Given the description of an element on the screen output the (x, y) to click on. 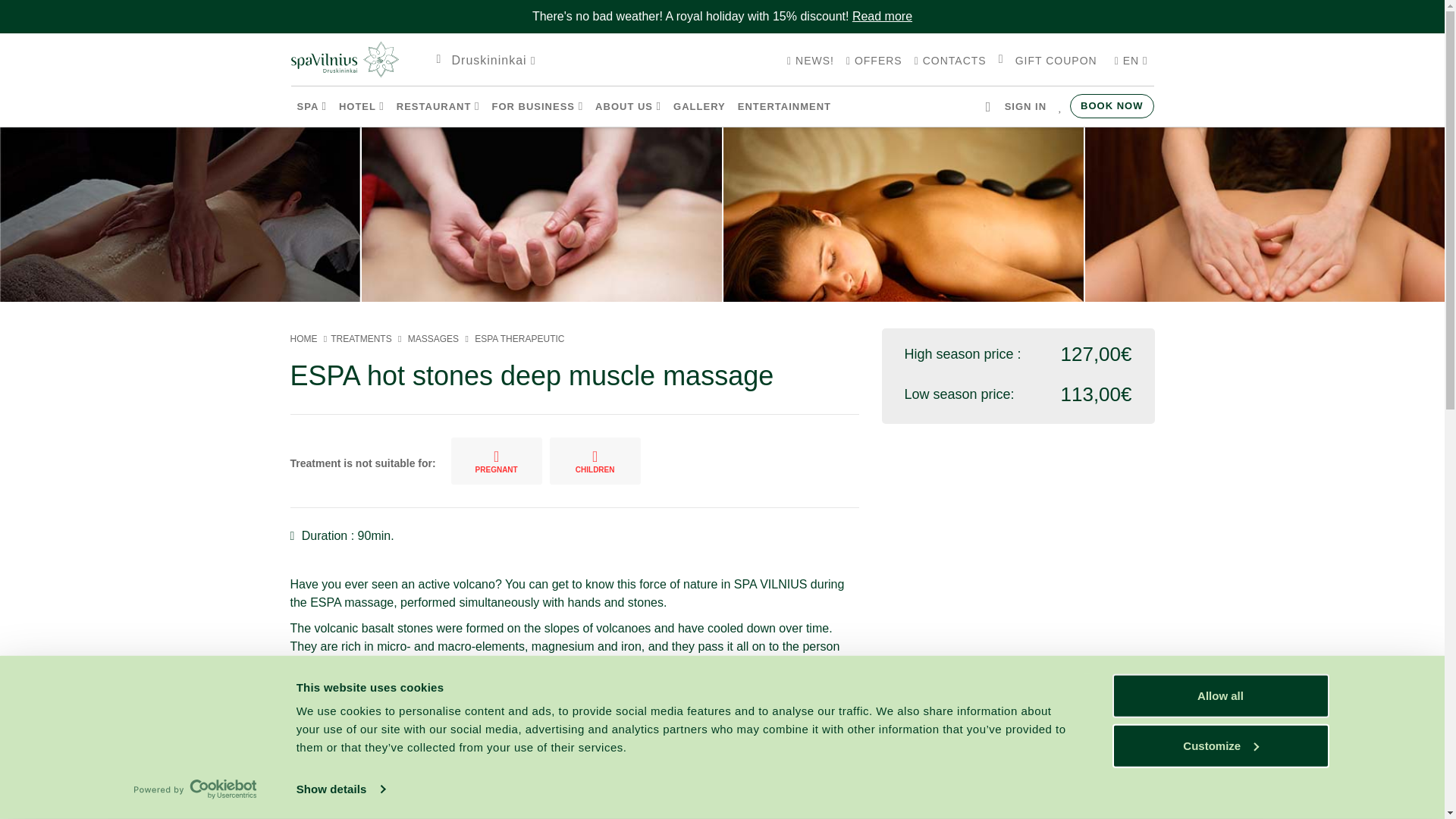
Show details (340, 789)
